Given the description of an element on the screen output the (x, y) to click on. 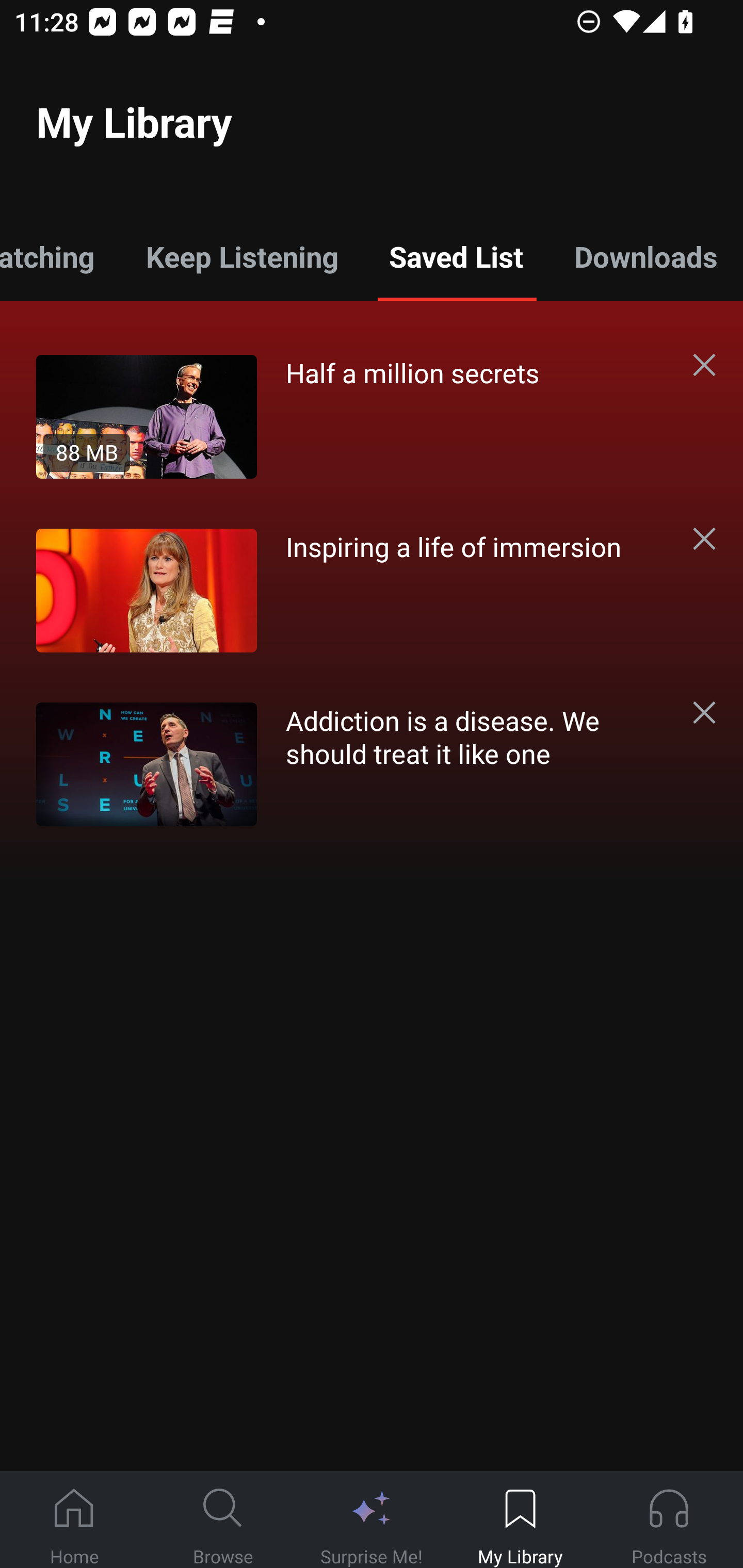
Keep Watching (60, 256)
Keep Listening (242, 256)
Saved List (456, 256)
Downloads (646, 256)
88 MB Half a million secrets (353, 416)
Inspiring a life of immersion (353, 590)
Home (74, 1520)
Browse (222, 1520)
Surprise Me! (371, 1520)
My Library (519, 1520)
Podcasts (668, 1520)
